Given the description of an element on the screen output the (x, y) to click on. 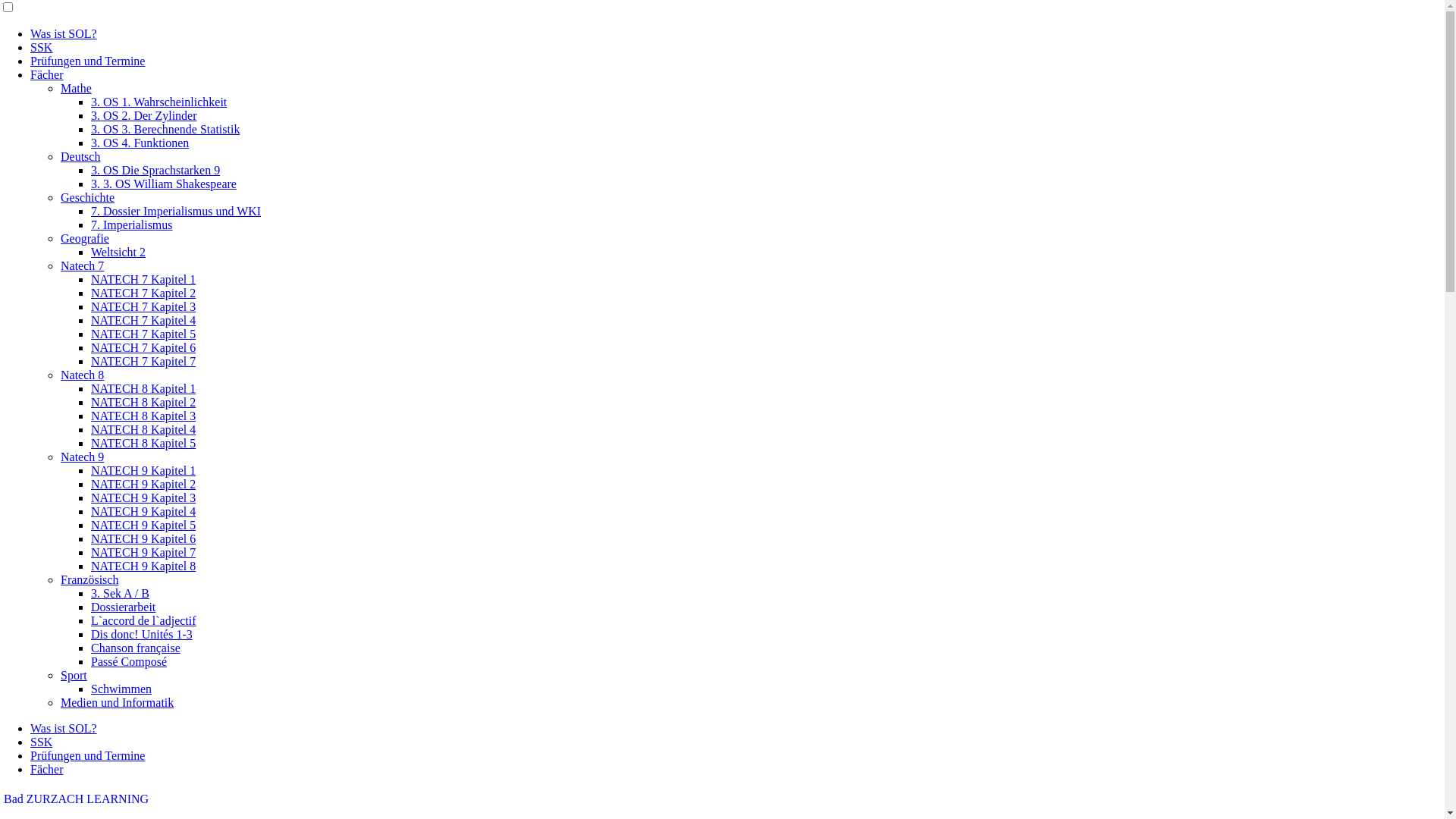
NATECH 7 Kapitel 3 Element type: text (143, 306)
SSK Element type: text (41, 741)
3. OS 2. Der Zylinder Element type: text (144, 115)
3. OS Die Sprachstarken 9 Element type: text (155, 169)
L`accord de l`adjectif Element type: text (143, 620)
Geografie Element type: text (84, 238)
NATECH 9 Kapitel 6 Element type: text (143, 538)
NATECH 9 Kapitel 2 Element type: text (143, 483)
Natech 9 Element type: text (81, 456)
NATECH 7 Kapitel 1 Element type: text (143, 279)
Weltsicht 2 Element type: text (118, 251)
NATECH 8 Kapitel 1 Element type: text (143, 388)
NATECH 7 Kapitel 6 Element type: text (143, 347)
7. Imperialismus Element type: text (131, 224)
Natech 7 Element type: text (81, 265)
NATECH 7 Kapitel 4 Element type: text (143, 319)
3. OS 4. Funktionen Element type: text (139, 142)
3. OS 1. Wahrscheinlichkeit Element type: text (158, 101)
NATECH 7 Kapitel 5 Element type: text (143, 333)
7. Dossier Imperialismus und WKI Element type: text (175, 210)
Schwimmen Element type: text (121, 688)
NATECH 9 Kapitel 7 Element type: text (143, 552)
NATECH 8 Kapitel 5 Element type: text (143, 442)
Bad ZURZACH LEARNING Element type: text (75, 798)
Was ist SOL? Element type: text (63, 33)
NATECH 7 Kapitel 2 Element type: text (143, 292)
NATECH 9 Kapitel 3 Element type: text (143, 497)
NATECH 8 Kapitel 2 Element type: text (143, 401)
Mathe Element type: text (75, 87)
Natech 8 Element type: text (81, 374)
NATECH 7 Kapitel 7 Element type: text (143, 360)
Sport Element type: text (73, 674)
NATECH 8 Kapitel 3 Element type: text (143, 415)
Dossierarbeit Element type: text (123, 606)
3. 3. OS William Shakespeare Element type: text (163, 183)
SSK Element type: text (41, 46)
Was ist SOL? Element type: text (63, 727)
3. OS 3. Berechnende Statistik Element type: text (165, 128)
NATECH 8 Kapitel 4 Element type: text (143, 429)
3. Sek A / B Element type: text (120, 592)
NATECH 9 Kapitel 4 Element type: text (143, 511)
NATECH 9 Kapitel 5 Element type: text (143, 524)
NATECH 9 Kapitel 8 Element type: text (143, 565)
Medien und Informatik Element type: text (116, 702)
NATECH 9 Kapitel 1 Element type: text (143, 470)
Deutsch Element type: text (80, 156)
Geschichte Element type: text (87, 197)
